Given the description of an element on the screen output the (x, y) to click on. 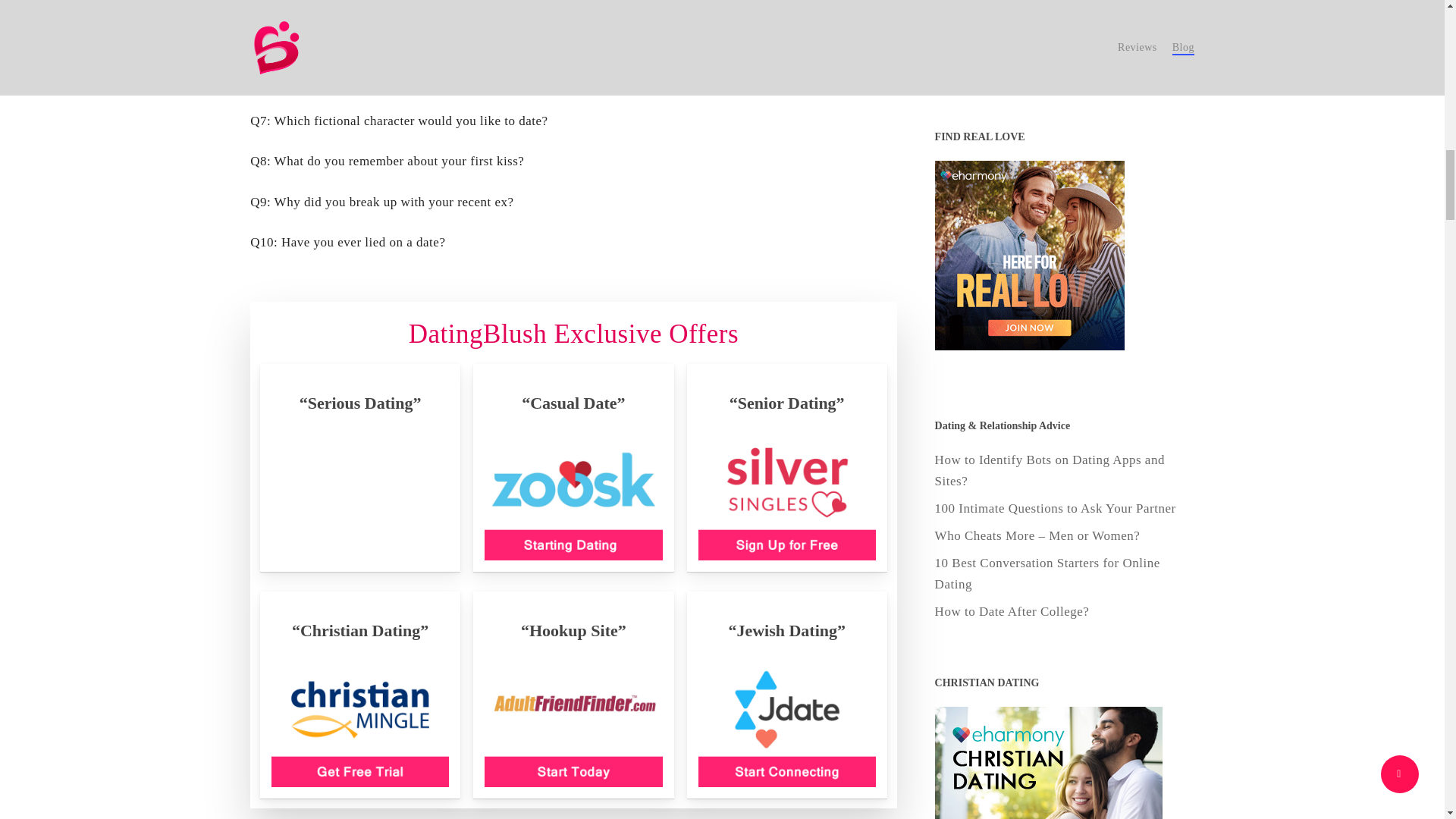
FIND REAL LOVE (1029, 255)
CHRISTIAN DATING (1047, 30)
Christian Dating (1047, 762)
